Given the description of an element on the screen output the (x, y) to click on. 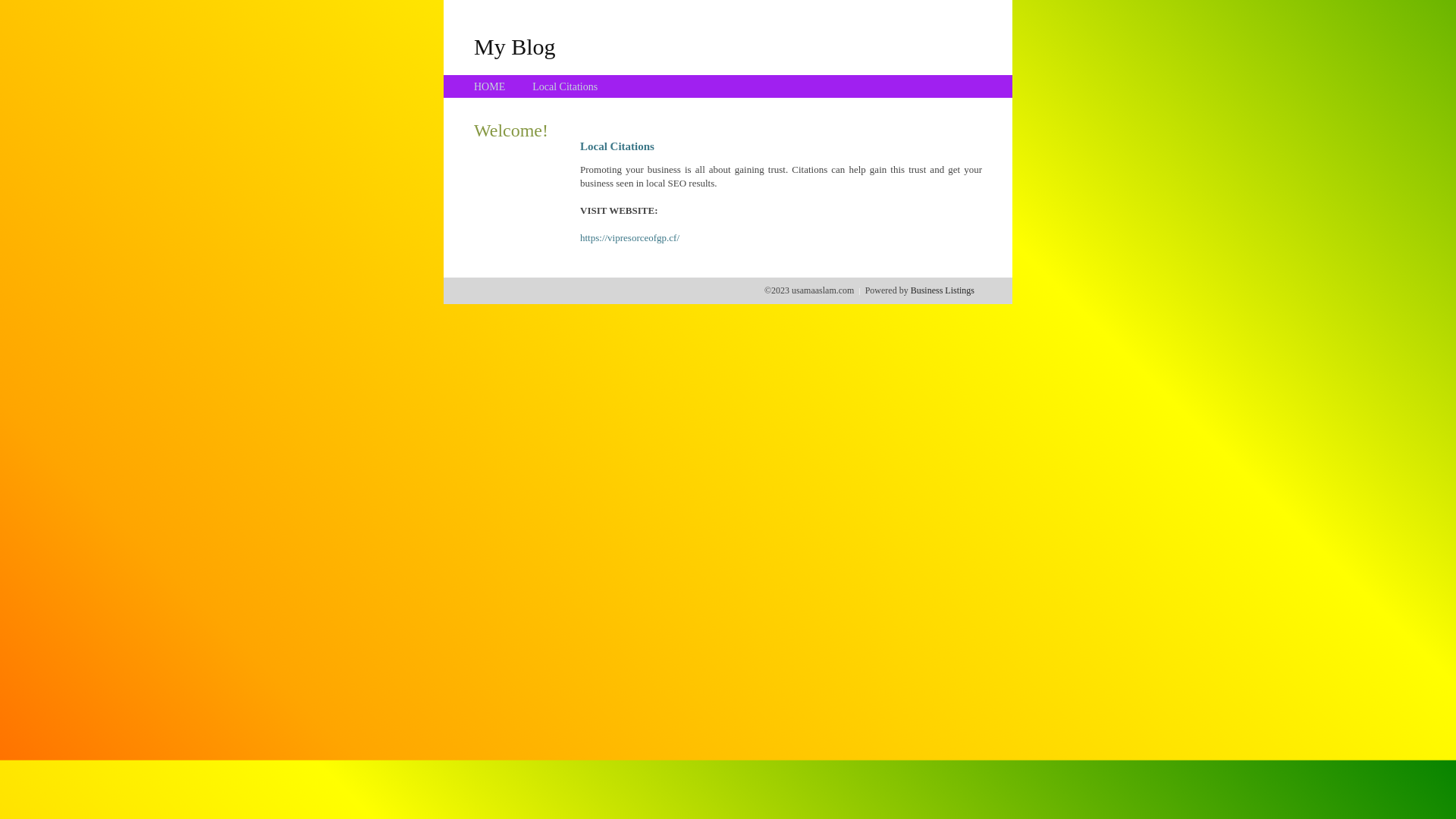
Local Citations Element type: text (564, 86)
https://vipresorceofgp.cf/ Element type: text (629, 237)
My Blog Element type: text (514, 46)
HOME Element type: text (489, 86)
Business Listings Element type: text (942, 290)
